Given the description of an element on the screen output the (x, y) to click on. 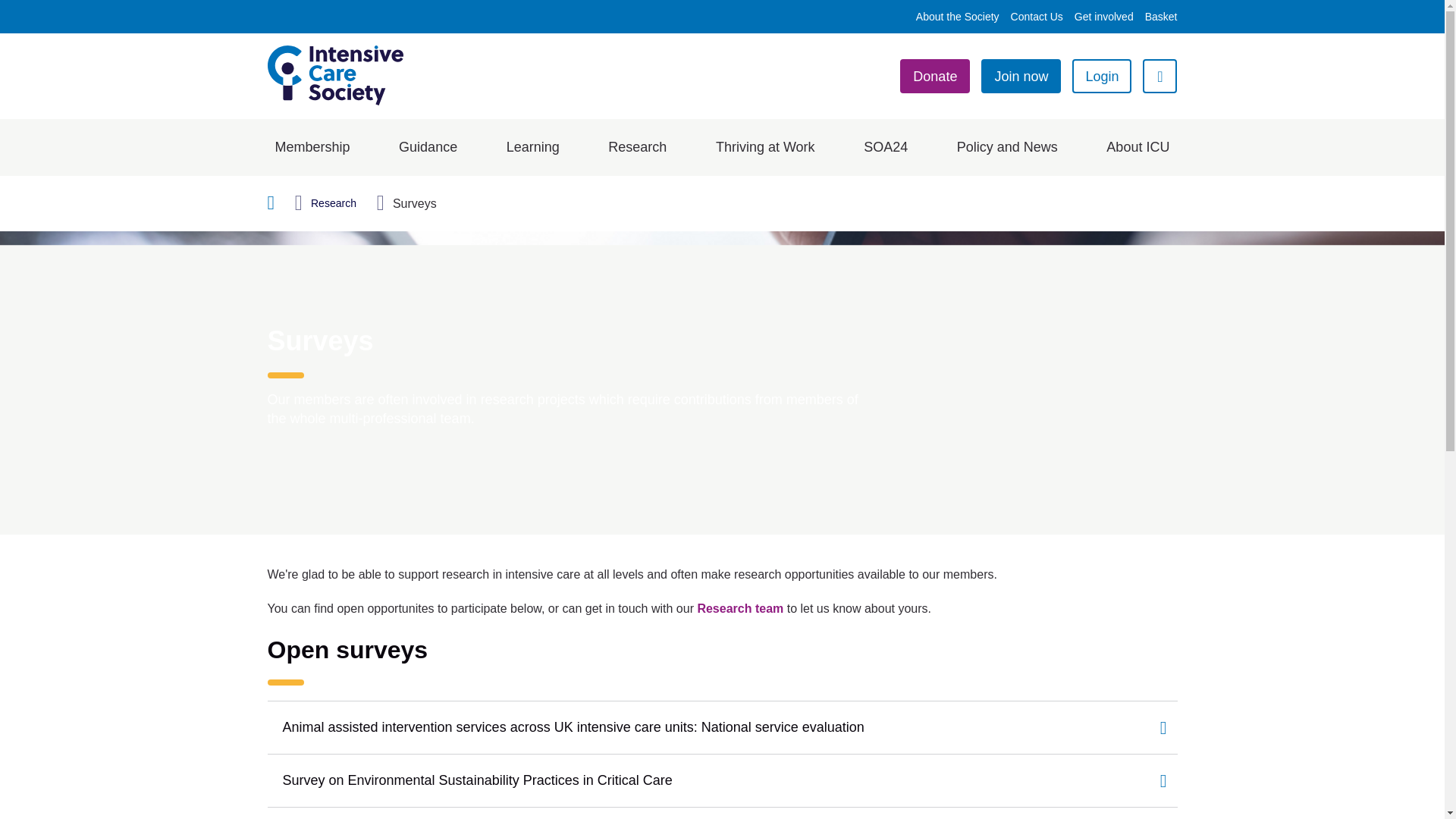
Learning (532, 147)
Get involved (1104, 16)
Donate (934, 75)
About the Society (956, 16)
Guidance (427, 147)
Basket (1160, 16)
Join now (1021, 75)
Contact Us (1036, 16)
Membership (312, 147)
Login (1101, 75)
Skip to content (307, 134)
Donate (934, 75)
